Given the description of an element on the screen output the (x, y) to click on. 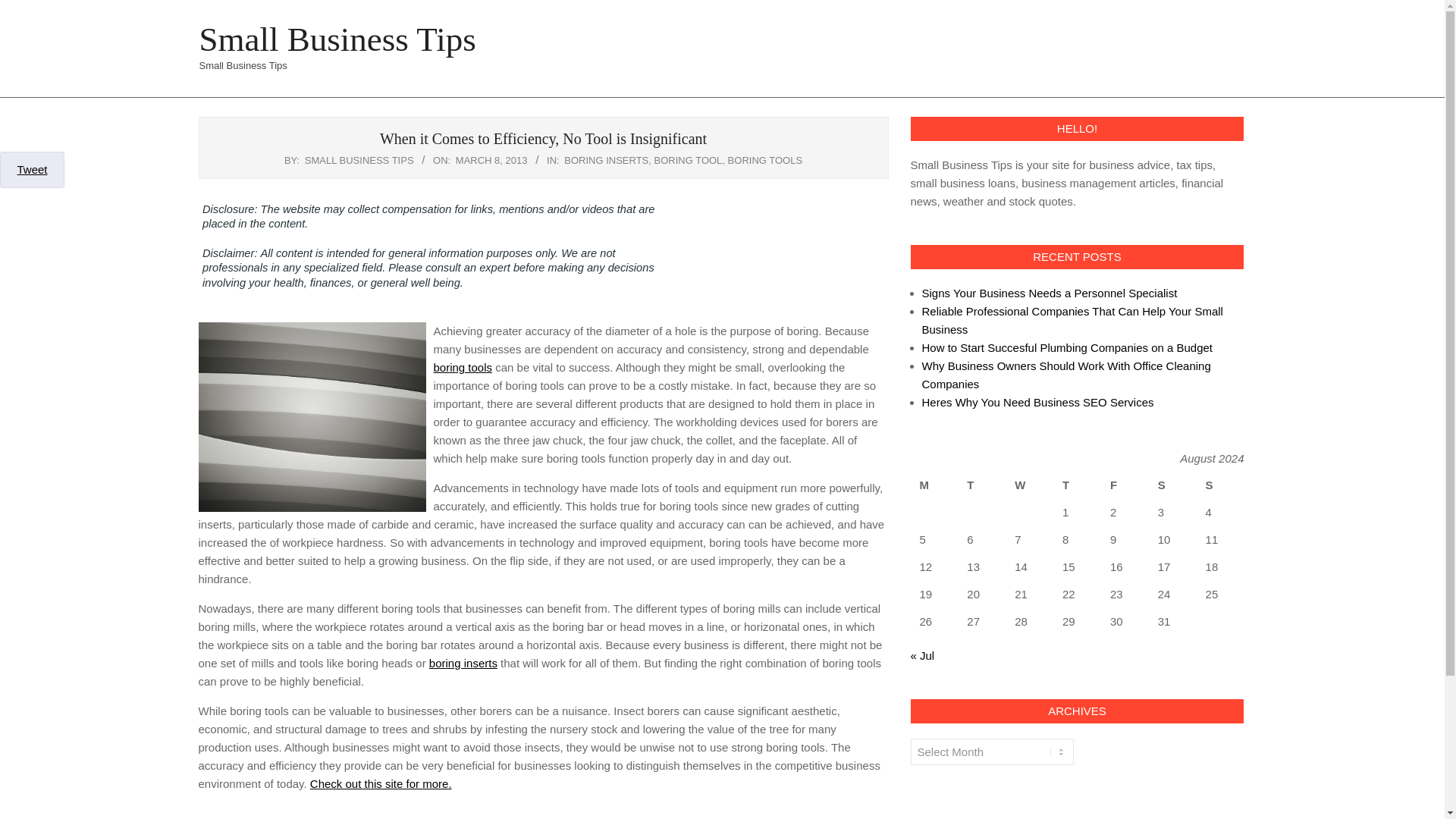
Saturday (1172, 484)
How to Start Succesful Plumbing Companies on a Budget (1066, 347)
Signs Your Business Needs a Personnel Specialist (1049, 292)
BORING TOOL (687, 160)
Browse more (463, 367)
Tuesday (982, 484)
Boring tool, Boring head (380, 783)
SMALL BUSINESS TIPS (358, 160)
Thursday (1076, 484)
BORING TOOLS (765, 160)
To read more on Boring tools (463, 662)
Monday (934, 484)
Sunday (1220, 484)
